Given the description of an element on the screen output the (x, y) to click on. 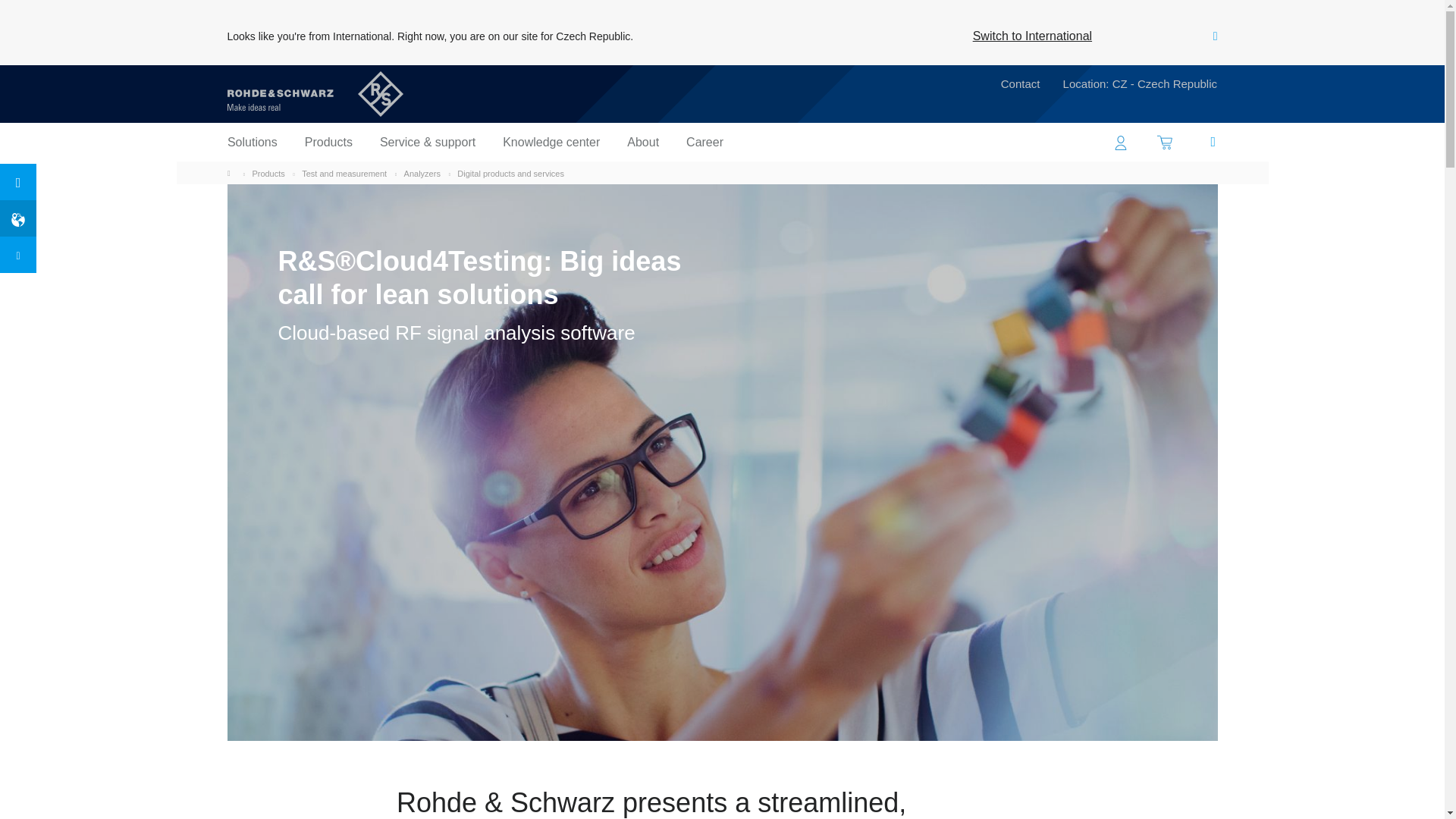
Solutions (252, 141)
Home (1121, 141)
Digital products and services (232, 172)
About (510, 173)
Products (643, 141)
Products (267, 173)
Test and measurement (1164, 141)
Knowledge center (327, 141)
Switch to International (344, 173)
Career (550, 141)
Analyzers (1032, 36)
Customer portal (704, 141)
Contact (422, 173)
